Given the description of an element on the screen output the (x, y) to click on. 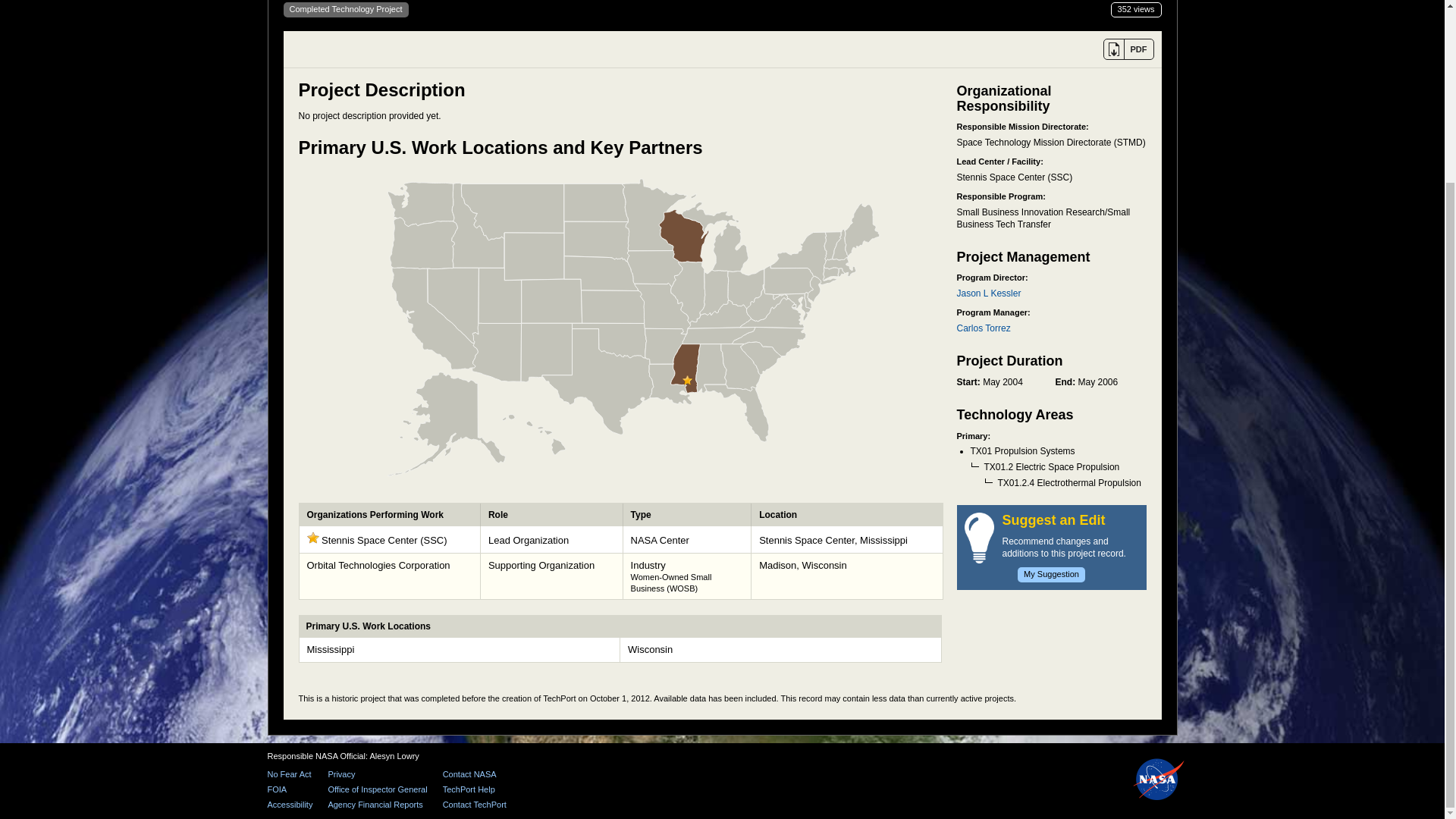
Contact NASA (474, 774)
FOIA (289, 789)
Office of Inspector General (376, 789)
My Suggestion (1050, 574)
Privacy (376, 774)
Contact TechPort (474, 804)
Jason L Kessler (989, 293)
TechPort Help (474, 789)
Carlos Torrez (983, 327)
No Fear Act (289, 774)
PDF (1127, 48)
Accessibility (289, 804)
Agency Financial Reports (376, 804)
